Given the description of an element on the screen output the (x, y) to click on. 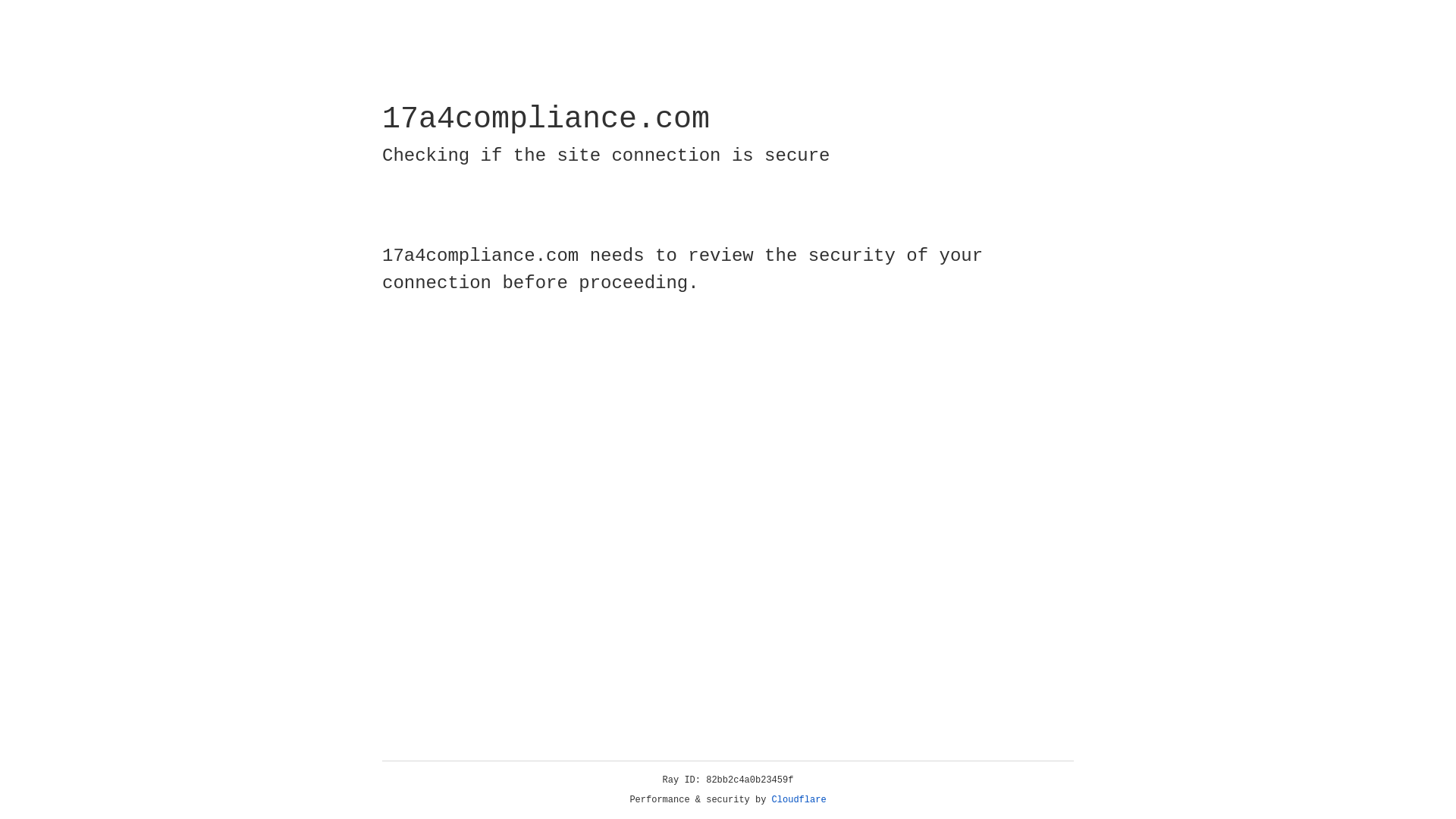
Cloudflare Element type: text (798, 799)
